Given the description of an element on the screen output the (x, y) to click on. 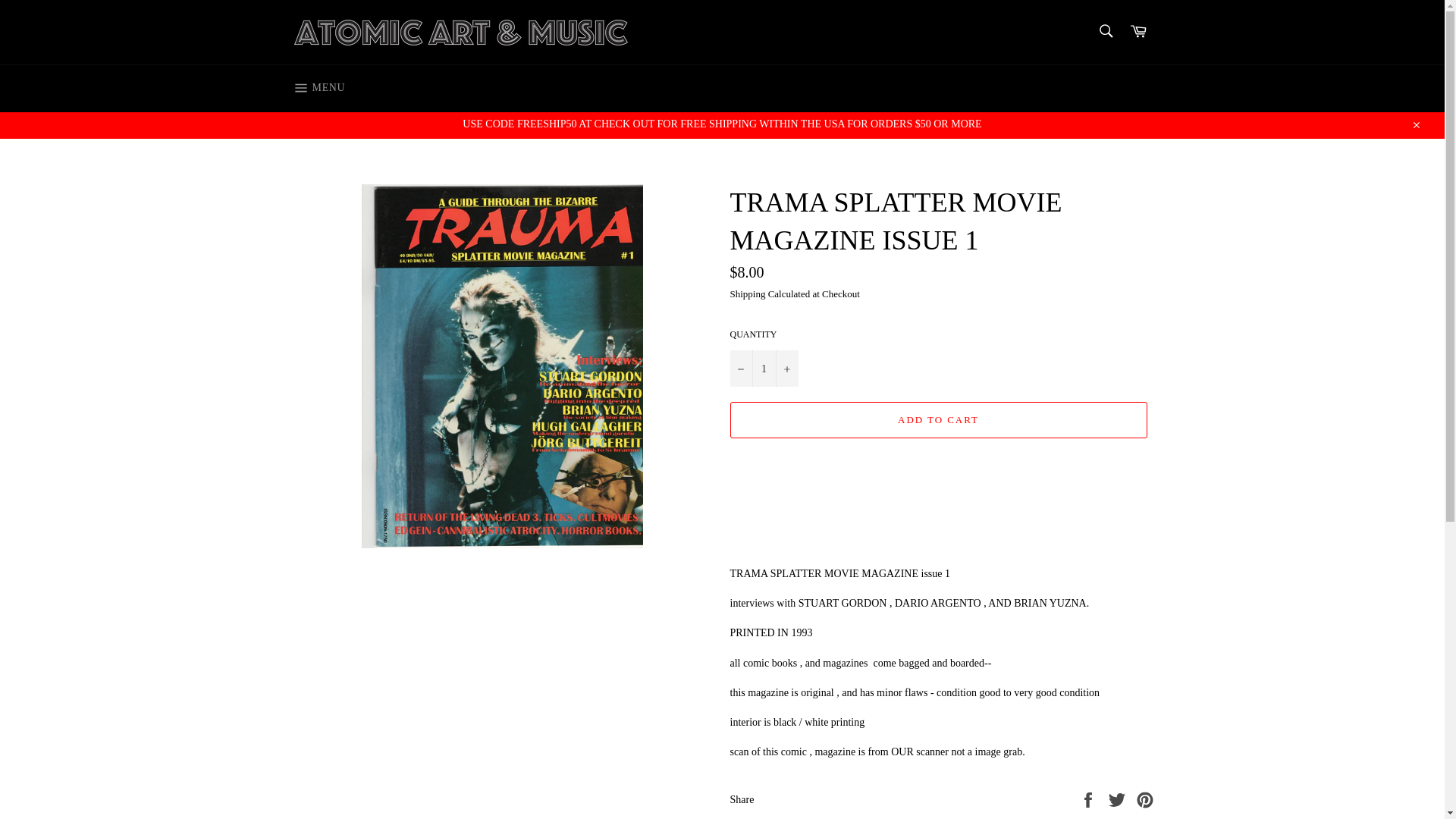
1 (763, 368)
Pin on Pinterest (1144, 798)
Tweet on Twitter (1118, 798)
Share on Facebook (1089, 798)
